Given the description of an element on the screen output the (x, y) to click on. 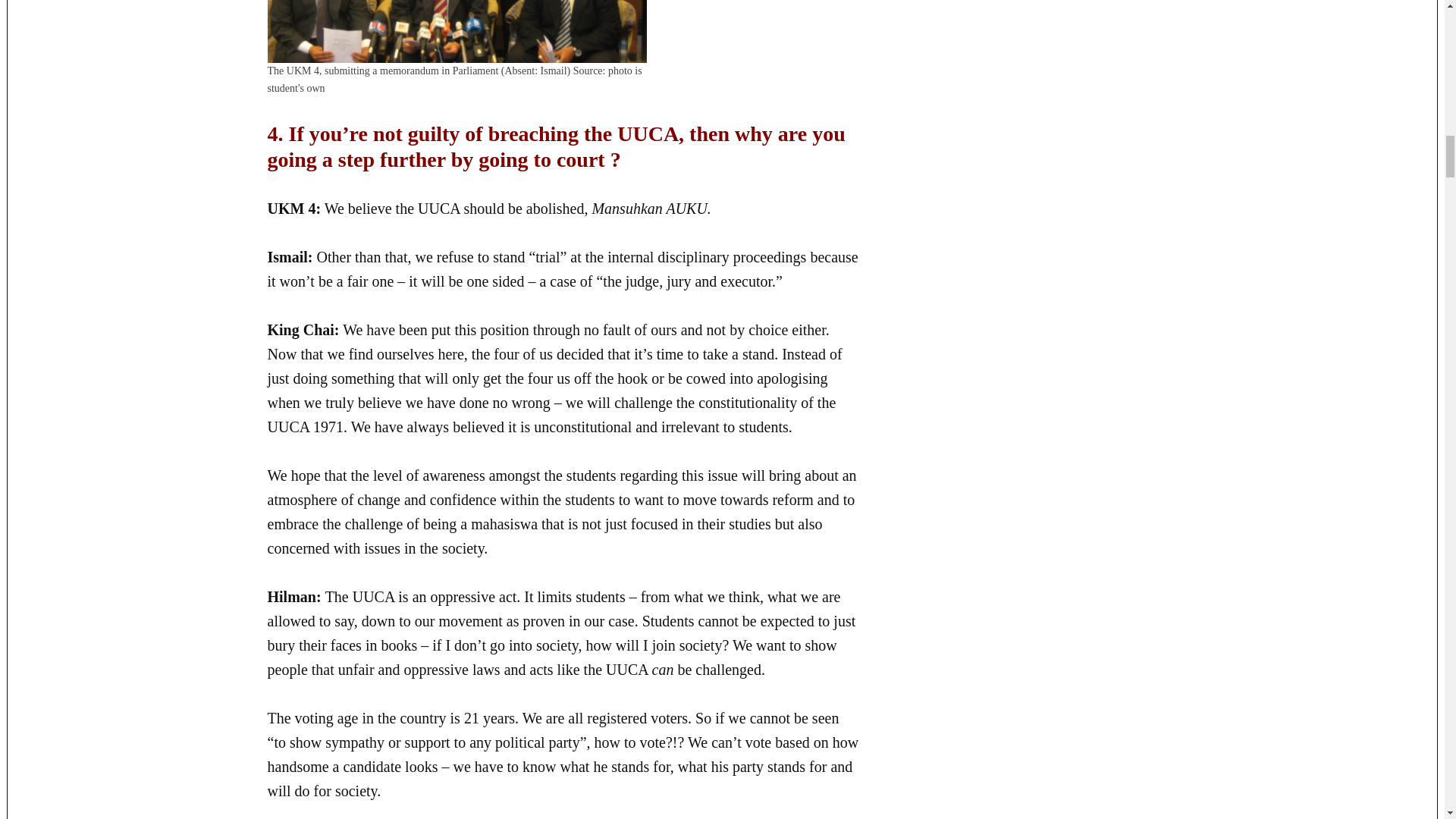
Memo Group Clear (456, 31)
